Given the description of an element on the screen output the (x, y) to click on. 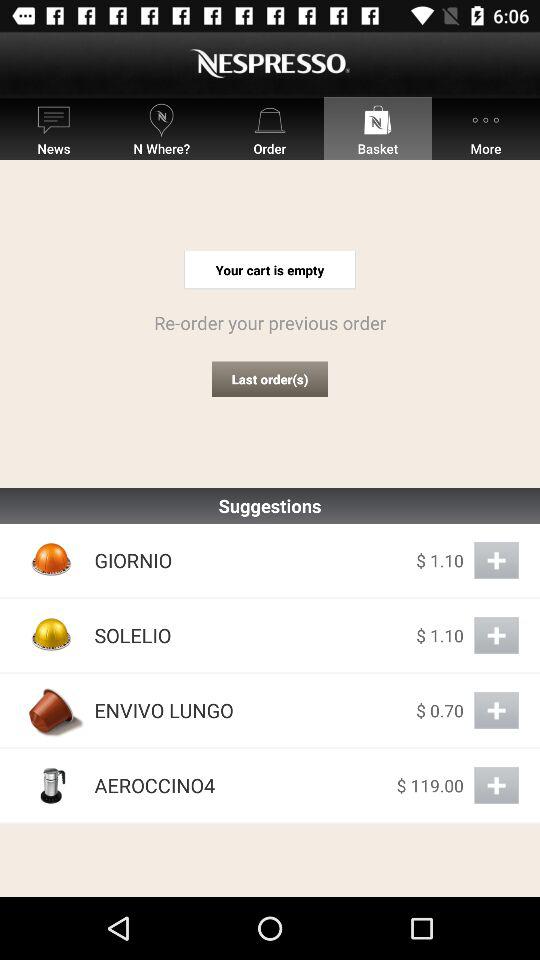
add to cart button (496, 635)
